Given the description of an element on the screen output the (x, y) to click on. 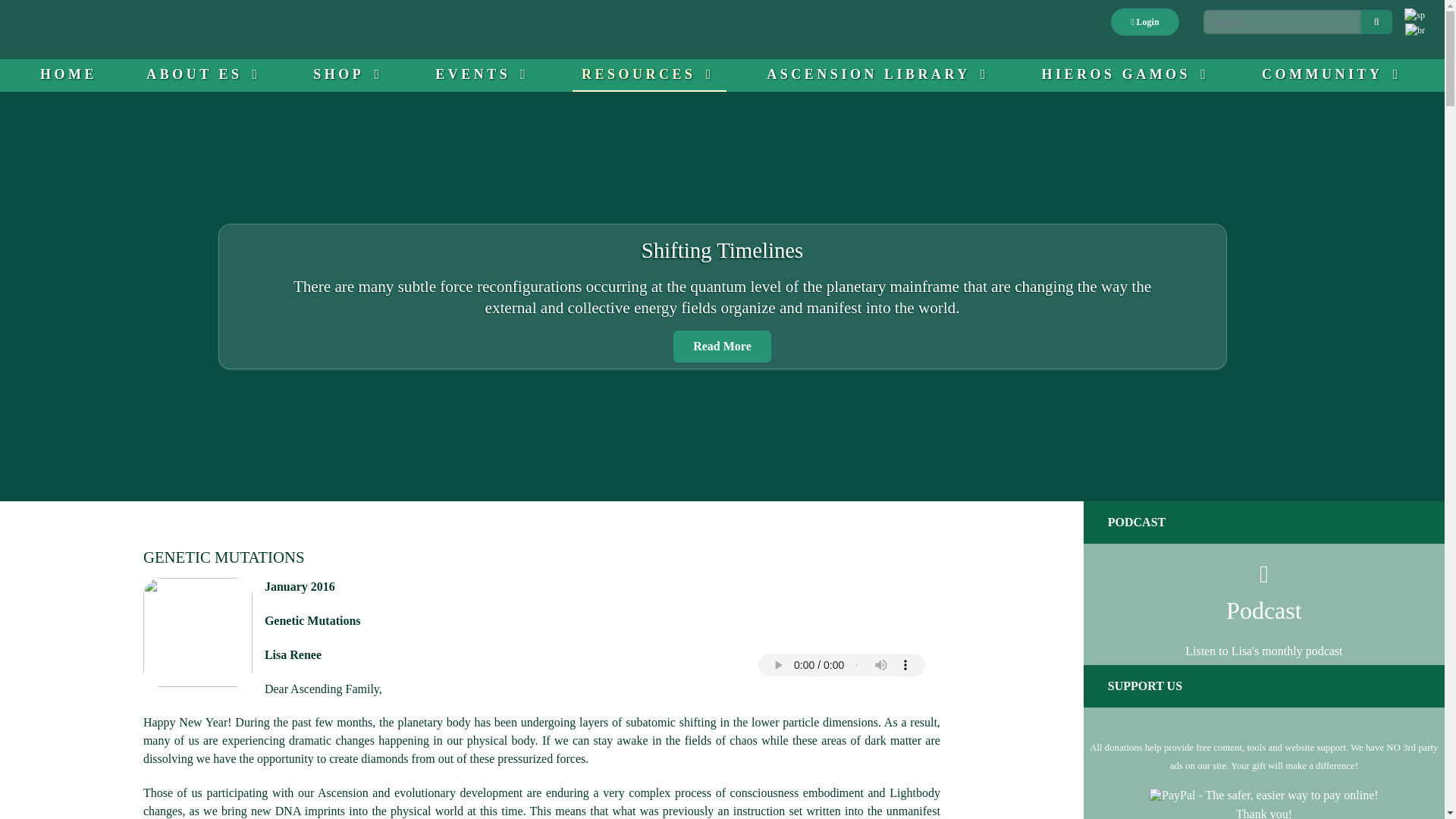
 Login (1143, 22)
Login (1143, 22)
EVENTS (483, 74)
Search (1376, 21)
RESOURCES (649, 74)
SHOP (349, 74)
ABOUT ES (204, 74)
HOME (68, 74)
